Given the description of an element on the screen output the (x, y) to click on. 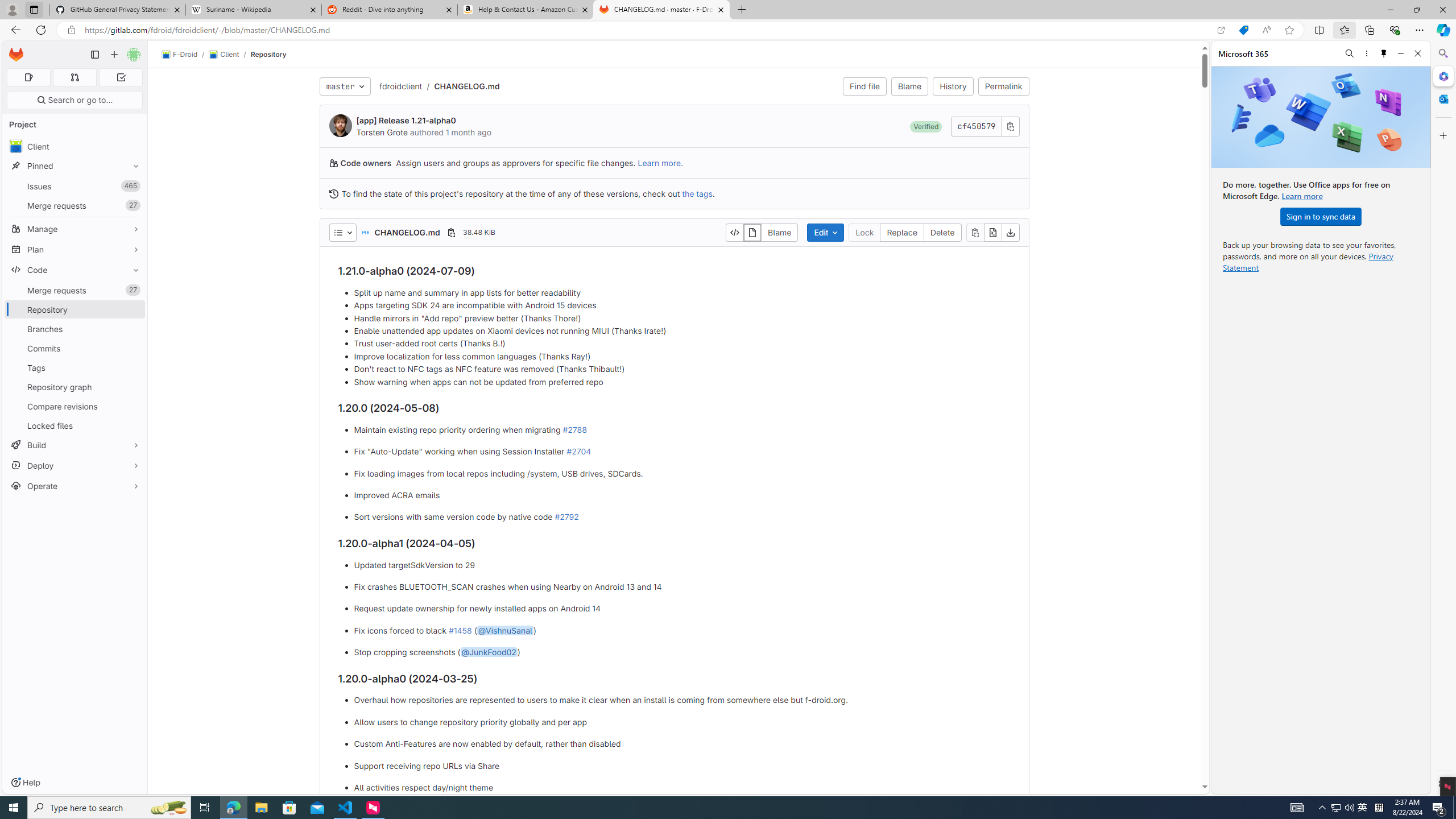
Assigned issues 0 (28, 76)
Learn more. (659, 162)
/CHANGELOG.md (460, 85)
Delete (942, 232)
@JunkFood02 (488, 652)
Download (1010, 232)
Privacy Statement (1308, 261)
